Given the description of an element on the screen output the (x, y) to click on. 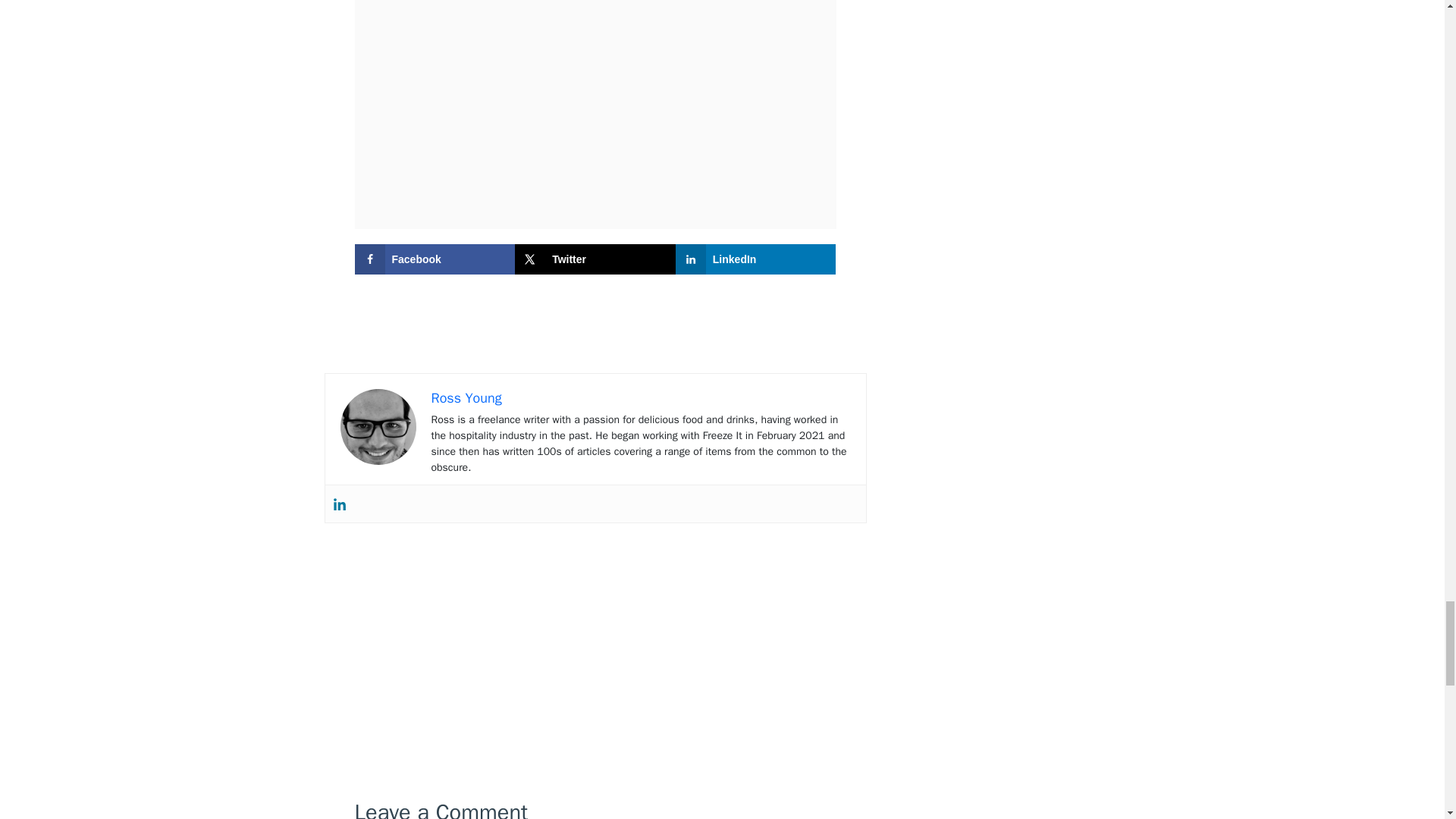
Share on LinkedIn (755, 259)
Share on Facebook (435, 259)
Linkedin (338, 503)
Share on X (595, 259)
